Given the description of an element on the screen output the (x, y) to click on. 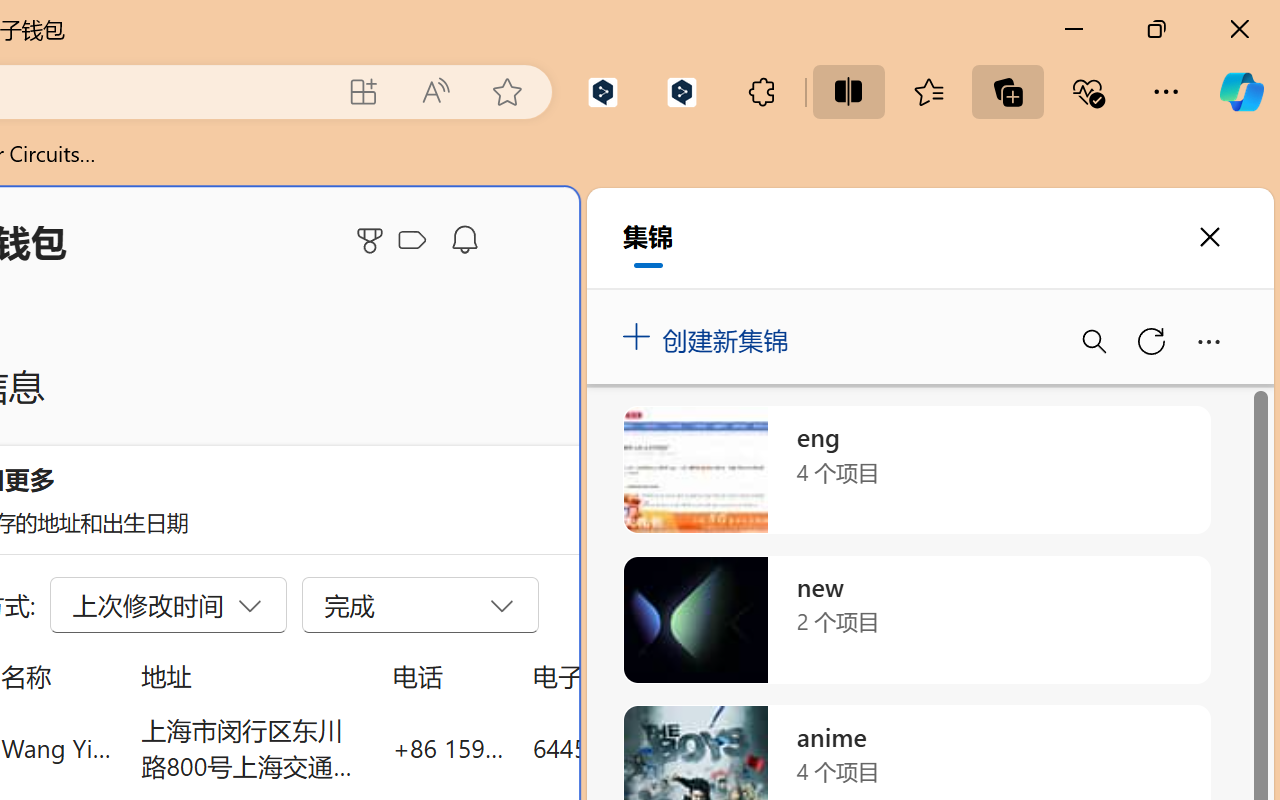
Microsoft Cashback (415, 241)
